Given the description of an element on the screen output the (x, y) to click on. 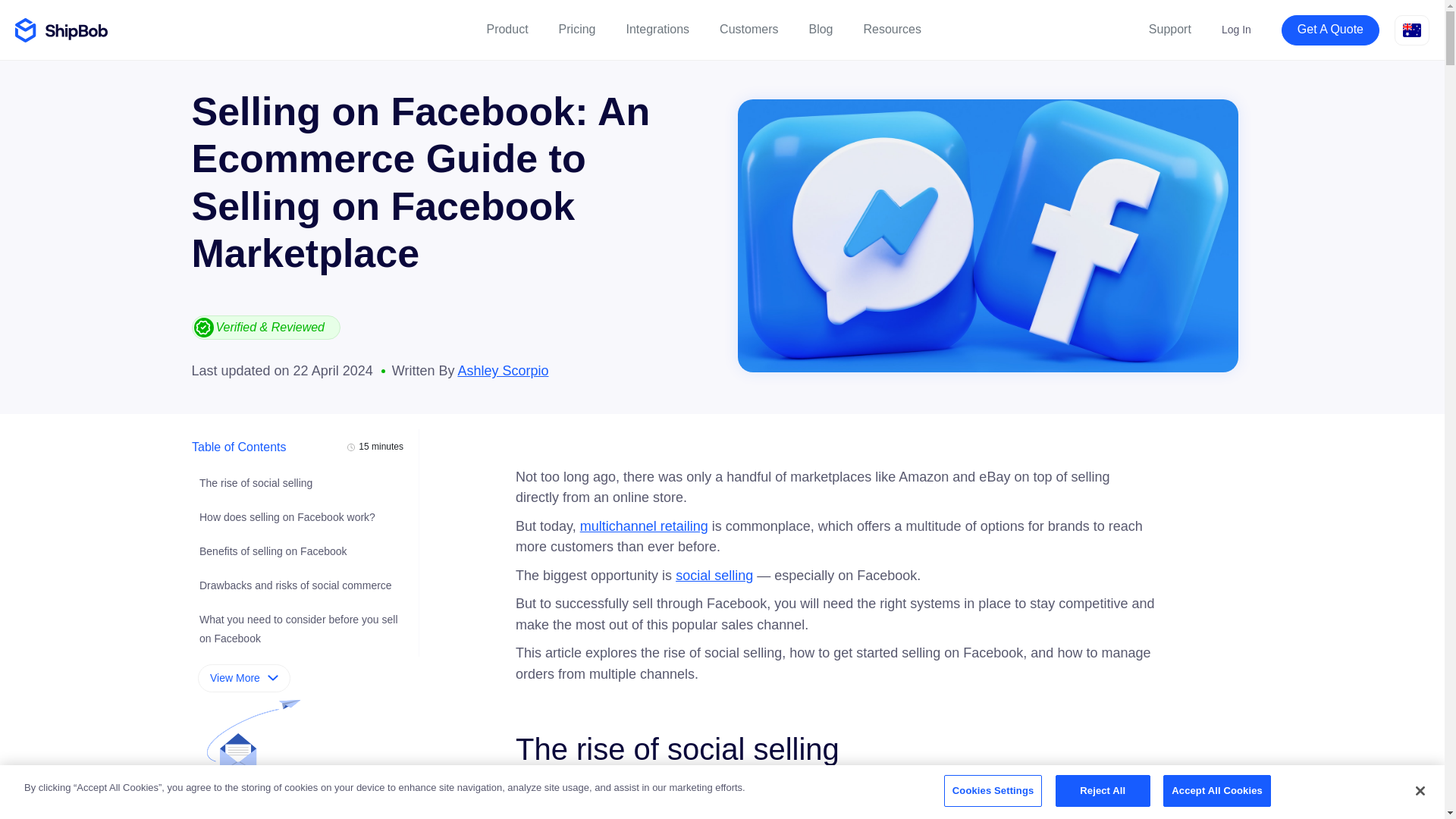
multichannel retailing (643, 525)
Posts by Ashley Scorpio (502, 370)
The rise of social selling (254, 482)
Skip to content (45, 14)
Customers (748, 29)
Log In (1235, 29)
Pricing (577, 29)
Integrations (658, 29)
social selling (713, 575)
Resources (891, 29)
